Given the description of an element on the screen output the (x, y) to click on. 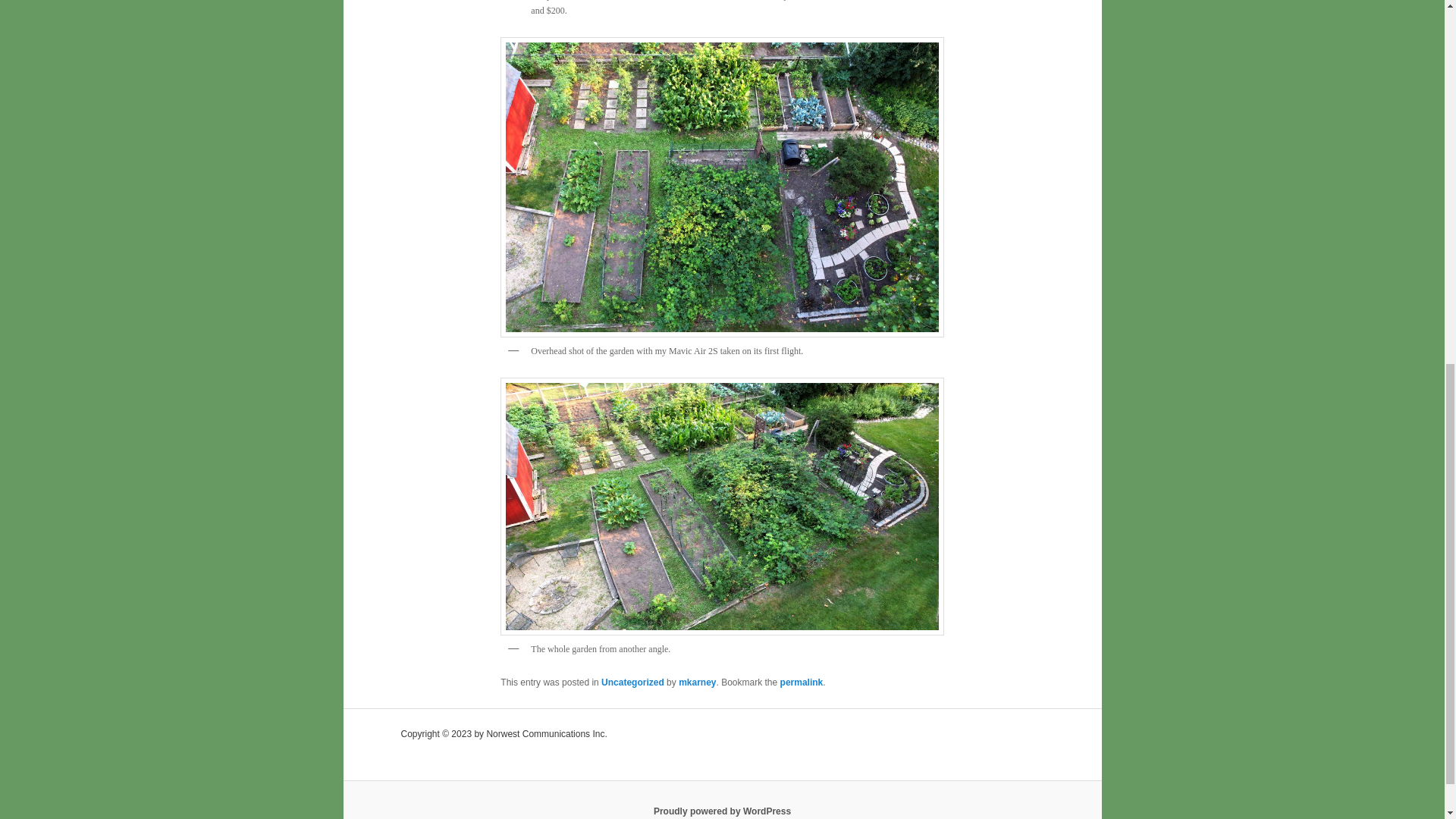
Proudly powered by WordPress (721, 810)
Semantic Personal Publishing Platform (721, 810)
mkarney (697, 682)
Permalink to More Garden Photography (802, 682)
permalink (802, 682)
Uncategorized (632, 682)
